Given the description of an element on the screen output the (x, y) to click on. 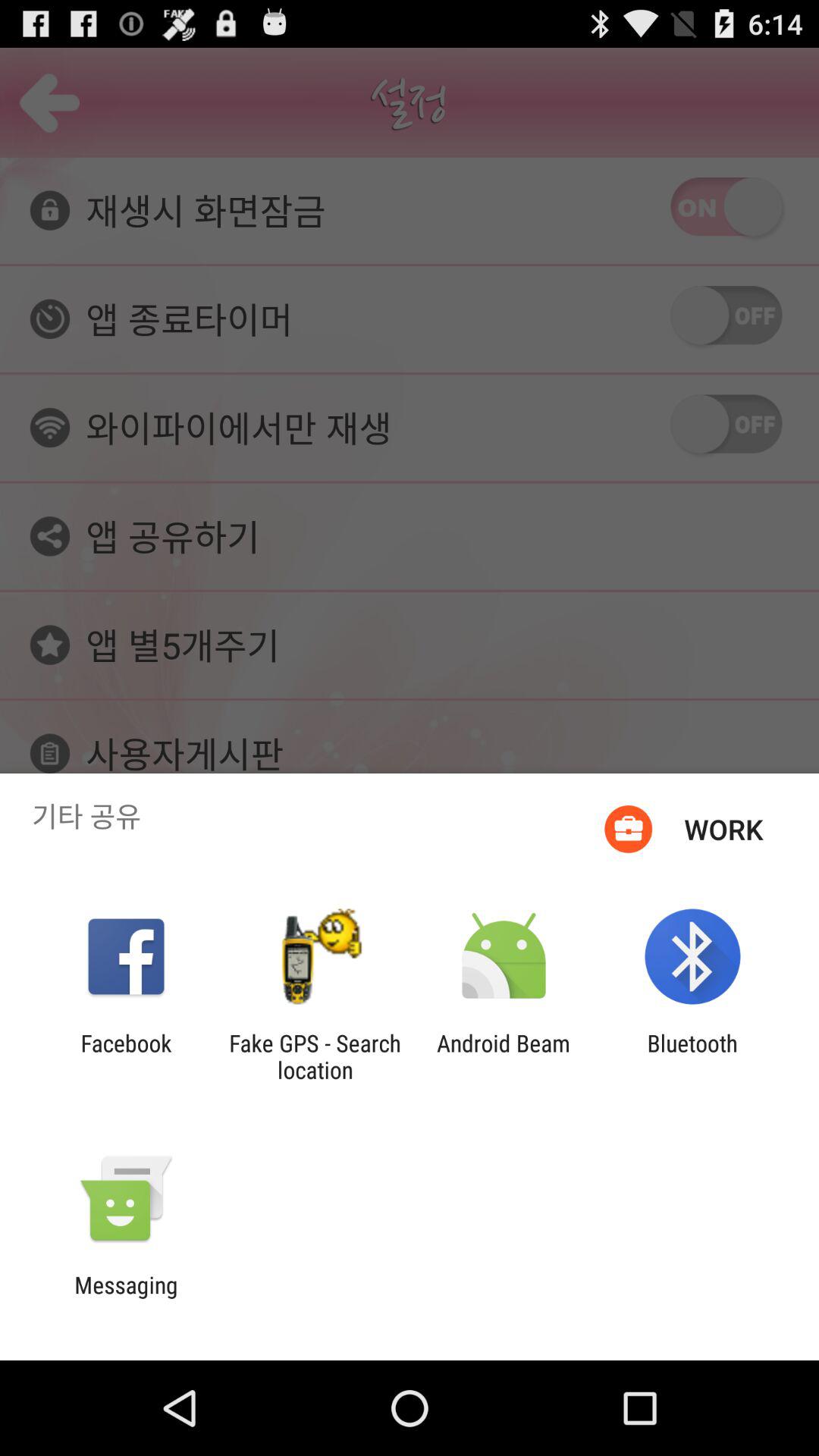
open the item next to fake gps search app (503, 1056)
